Given the description of an element on the screen output the (x, y) to click on. 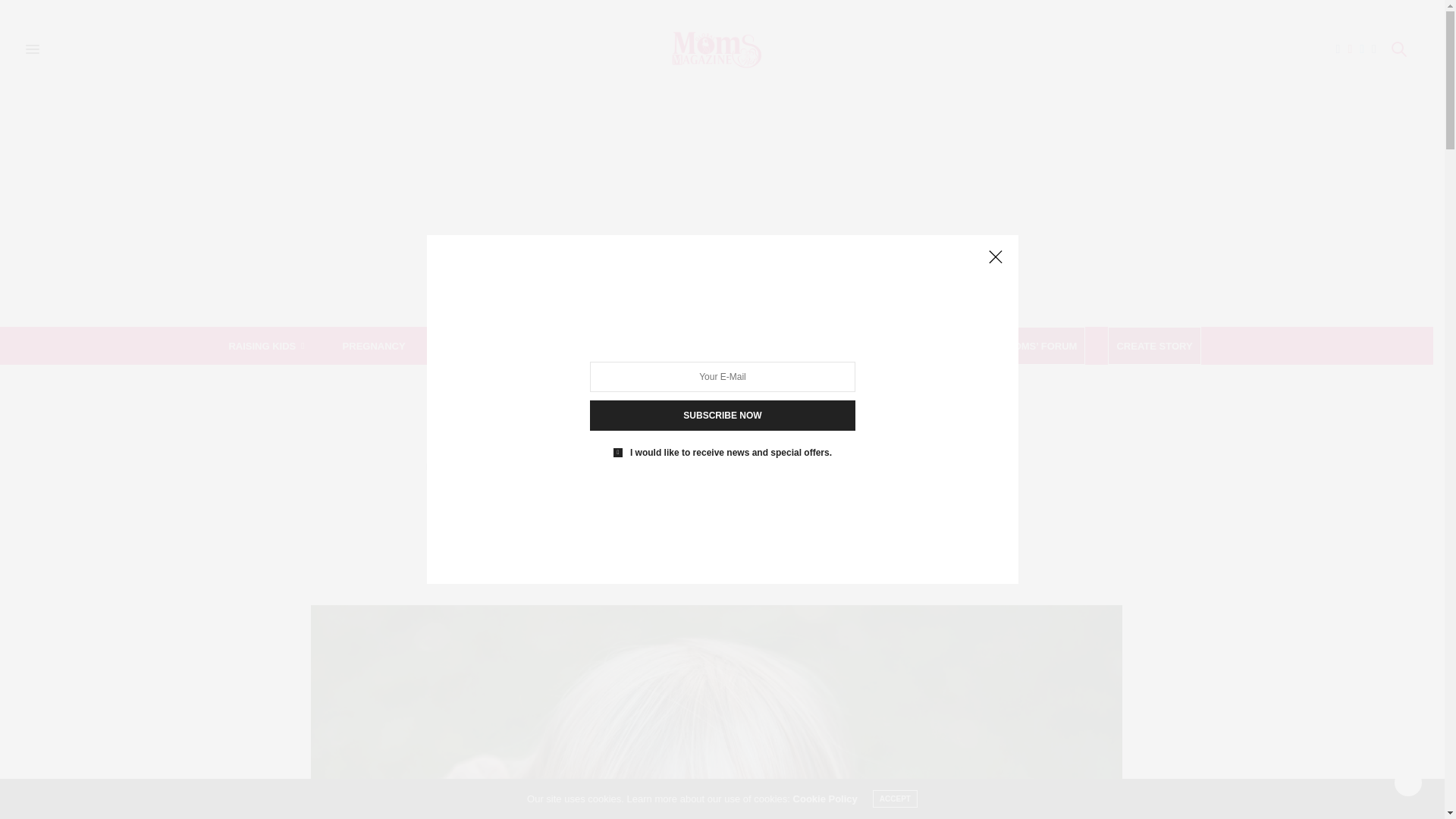
WEDDING (676, 345)
Global Moms Magazine (716, 49)
EDUCATION (584, 345)
WORKING MOM (481, 345)
SUBSCRIBE NOW (722, 415)
Posts by Emily Rose (721, 574)
RAISING KIDS (266, 345)
PREGNANCY (373, 345)
